Given the description of an element on the screen output the (x, y) to click on. 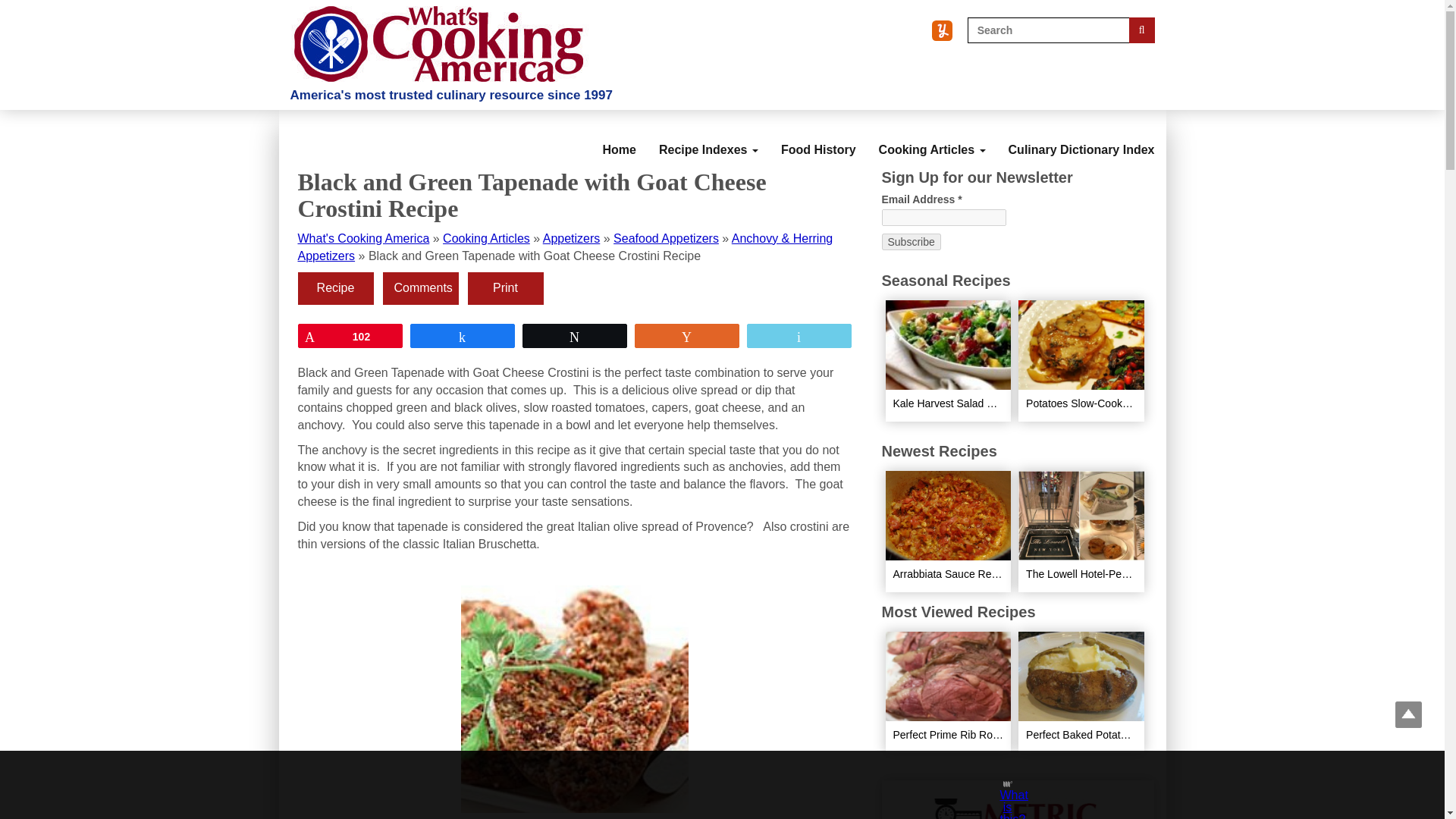
Subscribe (910, 241)
Cooking Articles (485, 237)
Cooking Articles (932, 136)
3rd party ad content (708, 785)
Seafood Appetizers (665, 237)
What's Cooking America (363, 237)
102 (349, 335)
Recipe Indexes (708, 136)
Follow us on Yummly (941, 30)
Comments (419, 287)
Food History (818, 136)
Recipe (334, 287)
Culinary Dictionary Index (1081, 136)
Scroll to Top (1408, 714)
Print (505, 287)
